Given the description of an element on the screen output the (x, y) to click on. 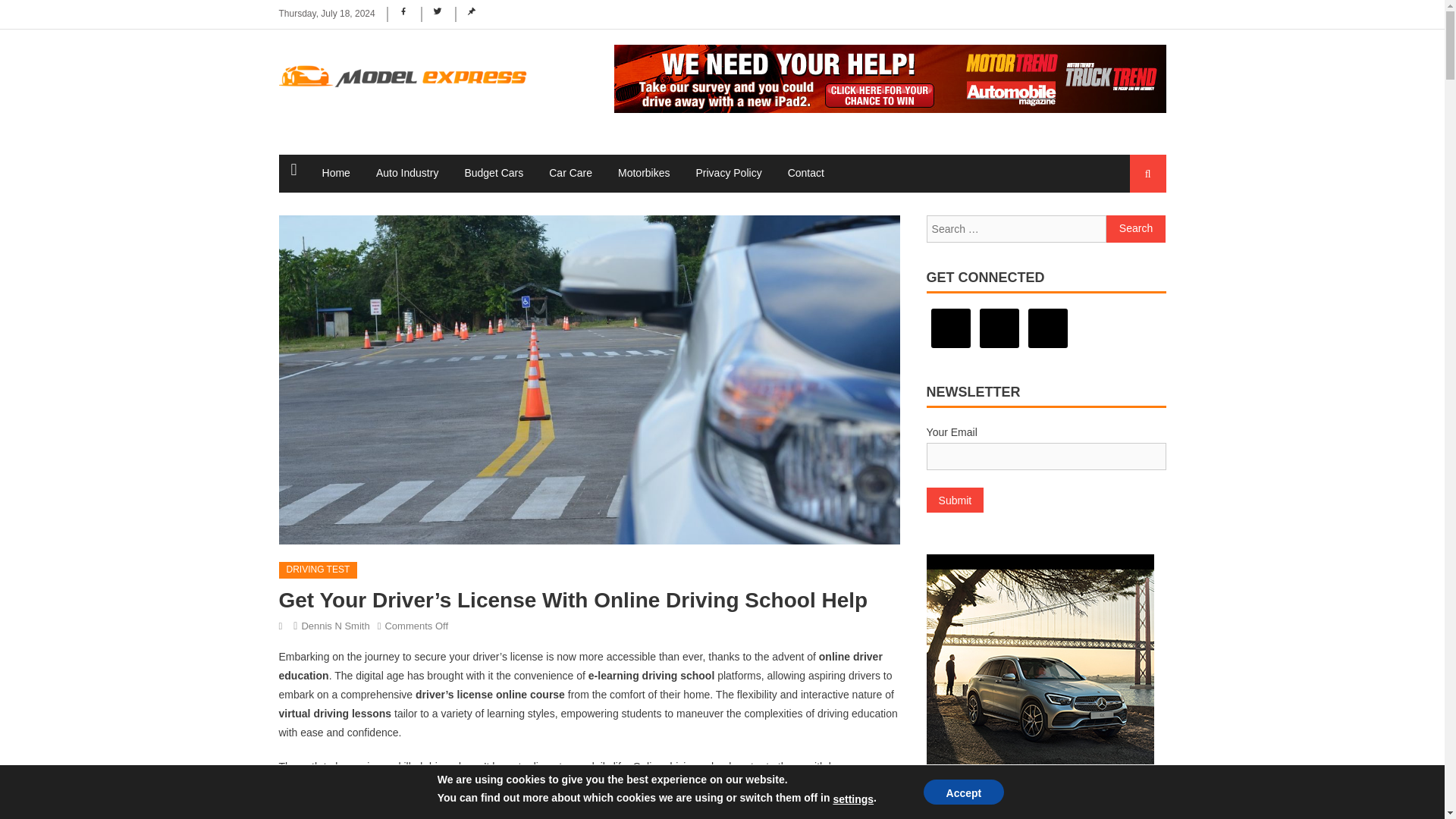
Search (1136, 228)
Submit (955, 499)
Submit (955, 499)
DRIVING TEST (318, 569)
Home (336, 172)
Motorbikes (644, 172)
Budget Cars (493, 172)
Search (1136, 228)
Dennis N Smith (335, 625)
Search (1136, 228)
Search (1133, 230)
Car Care (570, 172)
Auto Industry (407, 172)
Contact (805, 172)
Privacy Policy (728, 172)
